Given the description of an element on the screen output the (x, y) to click on. 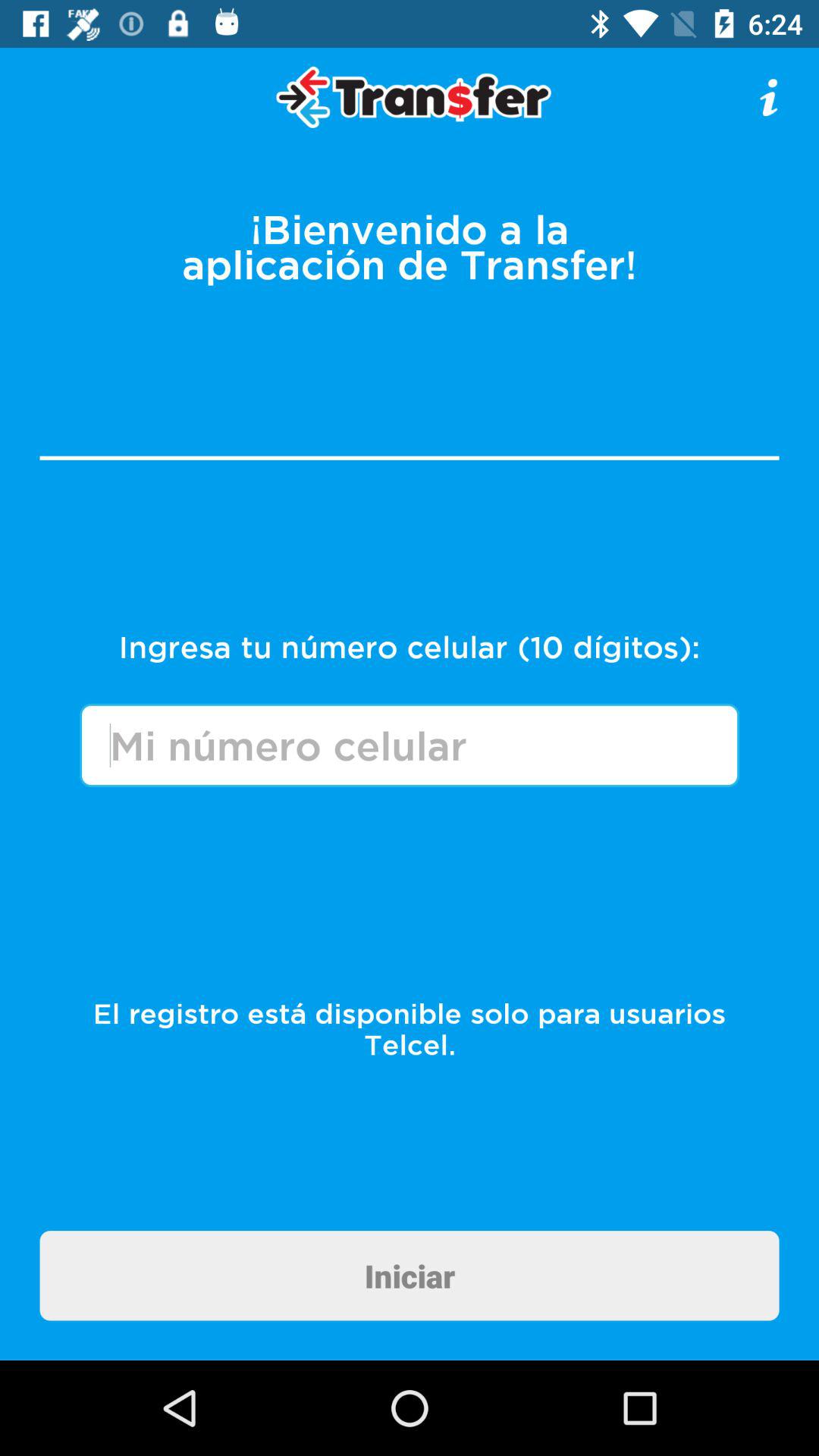
search by phone number (409, 745)
